Given the description of an element on the screen output the (x, y) to click on. 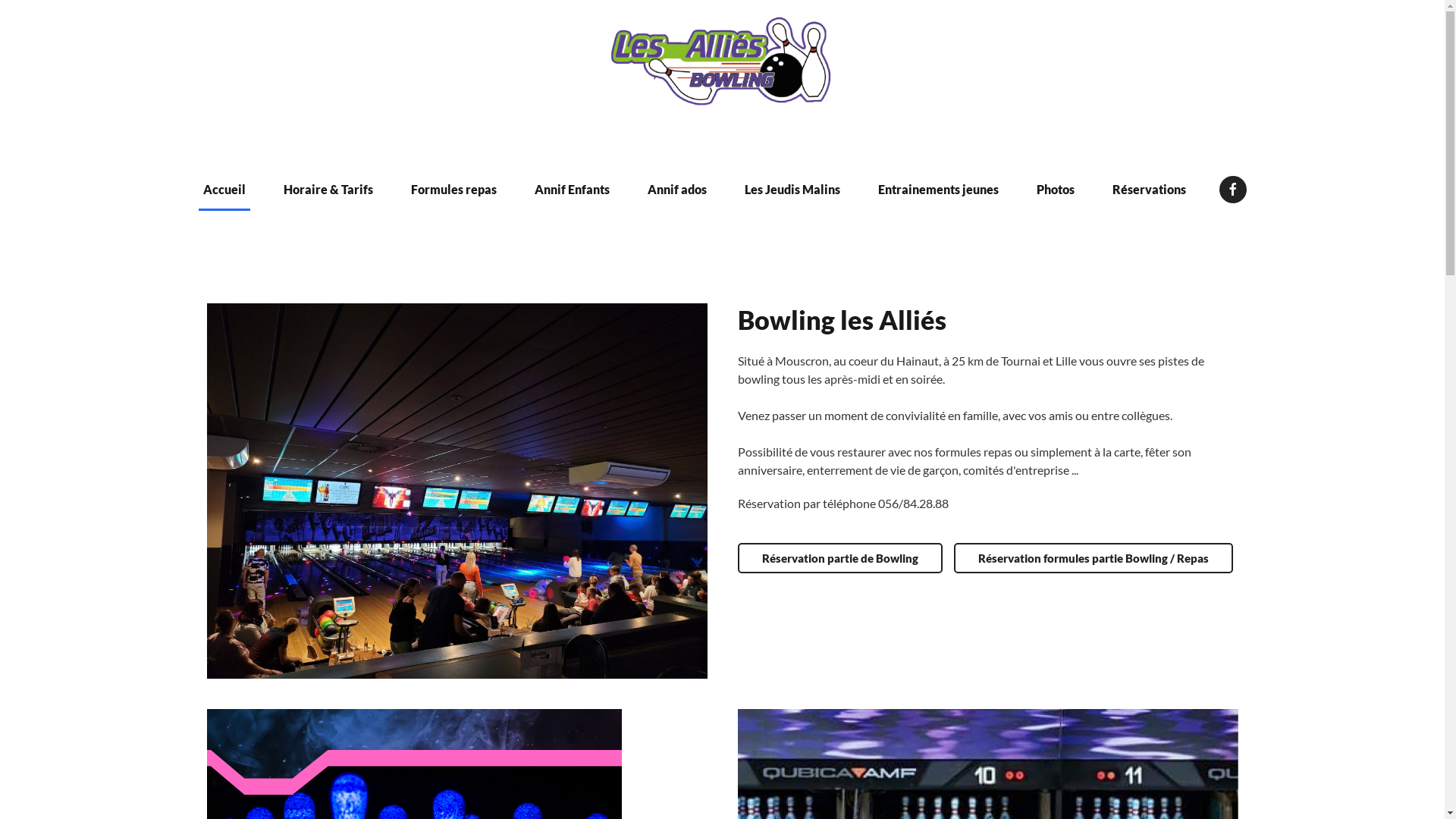
Accueil Element type: text (224, 189)
Formules repas Element type: text (453, 189)
Photos Element type: text (1054, 189)
Annif Enfants Element type: text (571, 189)
Les Jeudis Malins Element type: text (792, 189)
Horaire & Tarifs Element type: text (328, 189)
Annif ados Element type: text (677, 189)
Entrainements jeunes Element type: text (938, 189)
